Given the description of an element on the screen output the (x, y) to click on. 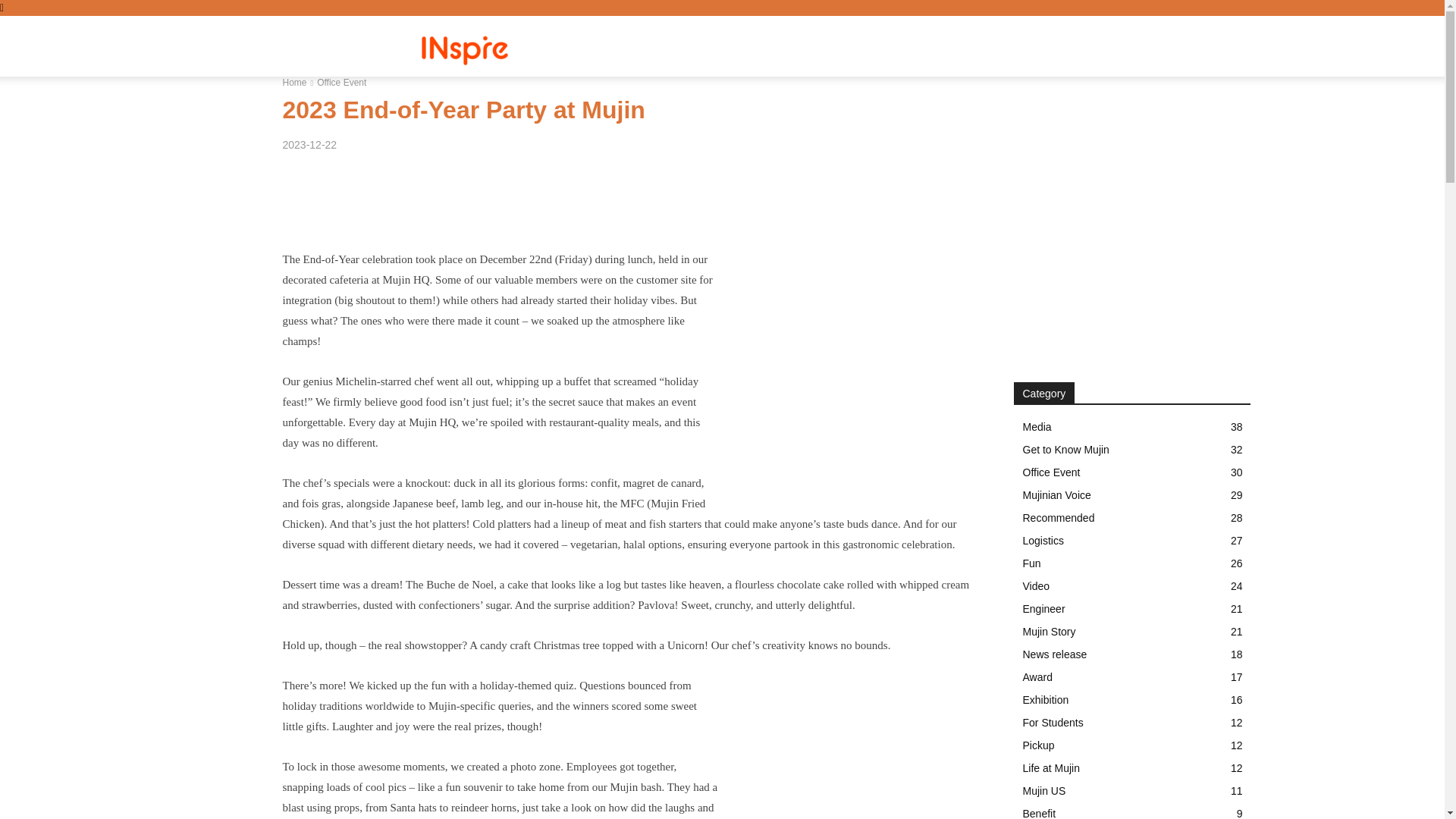
Get to Know Mujin (1016, 45)
Office Event (341, 81)
View all posts in Office Event (341, 81)
Home (293, 81)
Mujinian Voice (911, 45)
MUJINspire (430, 45)
